Given the description of an element on the screen output the (x, y) to click on. 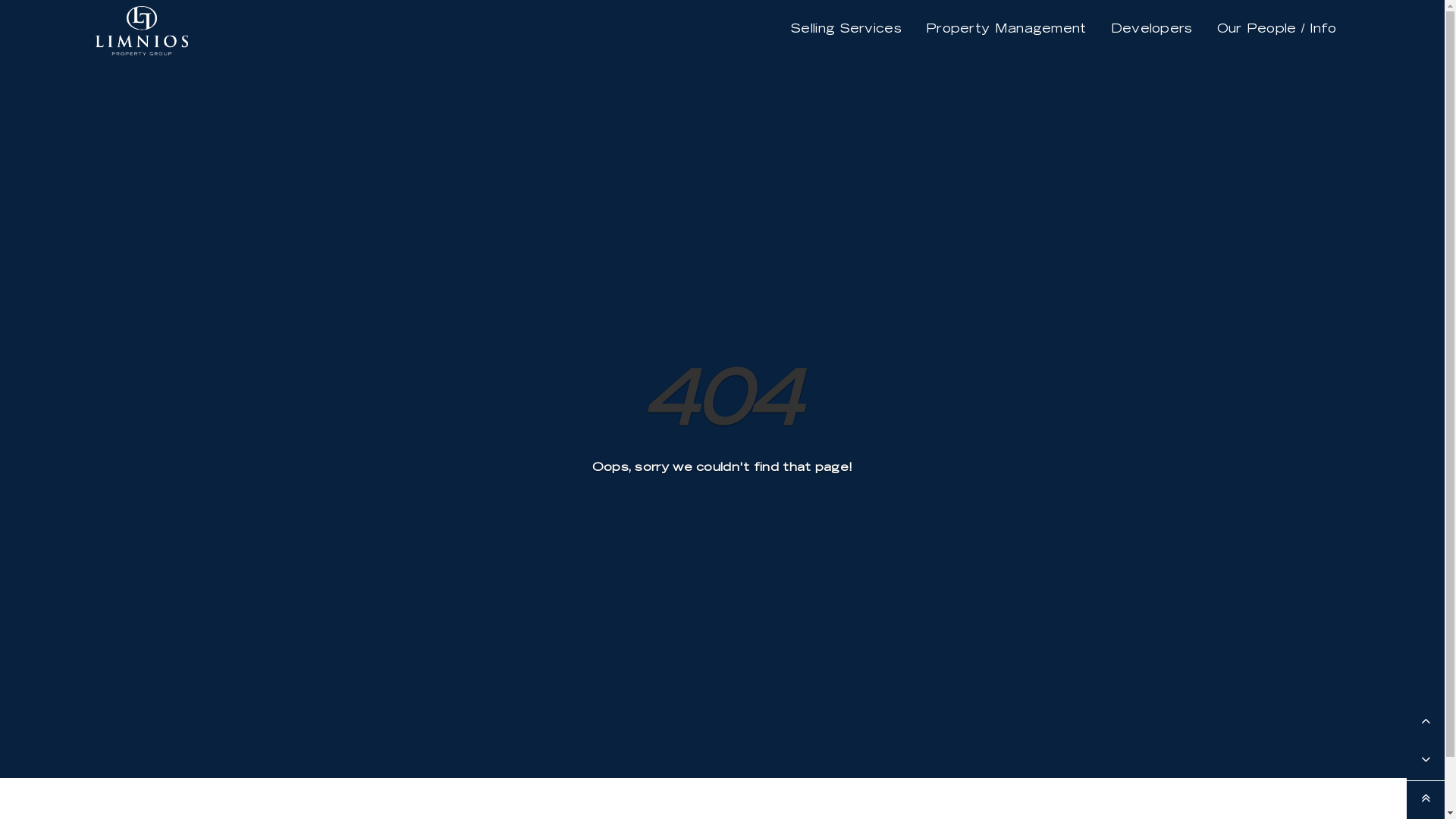
Property Management Element type: text (1005, 29)
scroll up Element type: hover (1425, 722)
Our People / Info Element type: text (1276, 29)
Selling Services Element type: text (845, 29)
Developers Element type: text (1151, 29)
scroll down Element type: hover (1425, 761)
